Given the description of an element on the screen output the (x, y) to click on. 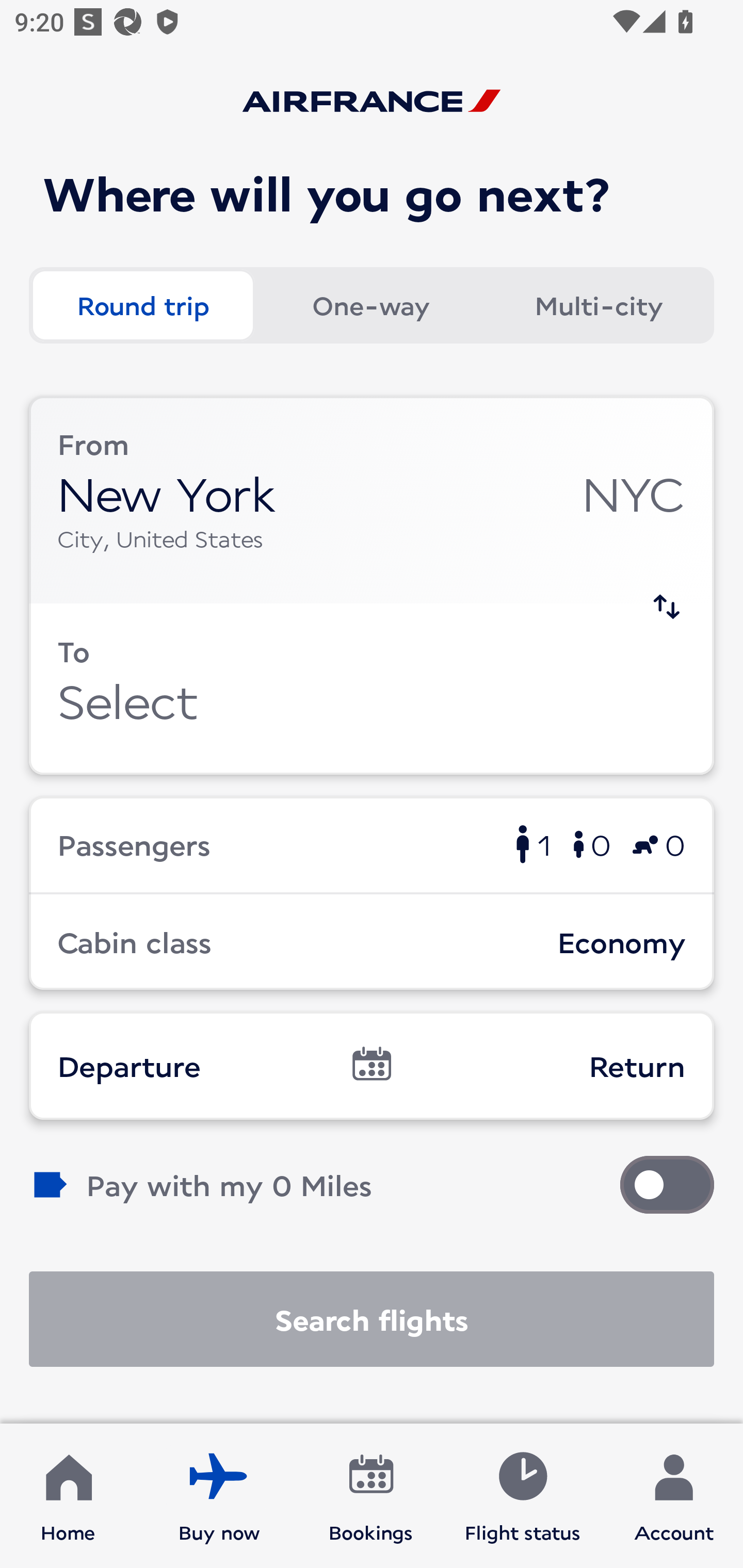
Round trip (142, 304)
One-way (370, 304)
Multi-city (598, 304)
From New York NYC City, United States (371, 499)
To Select (371, 688)
Passengers 1 0 0 (371, 844)
Cabin class Economy (371, 941)
Departure Return (371, 1065)
Search flights (371, 1319)
Home (68, 1495)
Bookings (370, 1495)
Flight status (522, 1495)
Account (674, 1495)
